Given the description of an element on the screen output the (x, y) to click on. 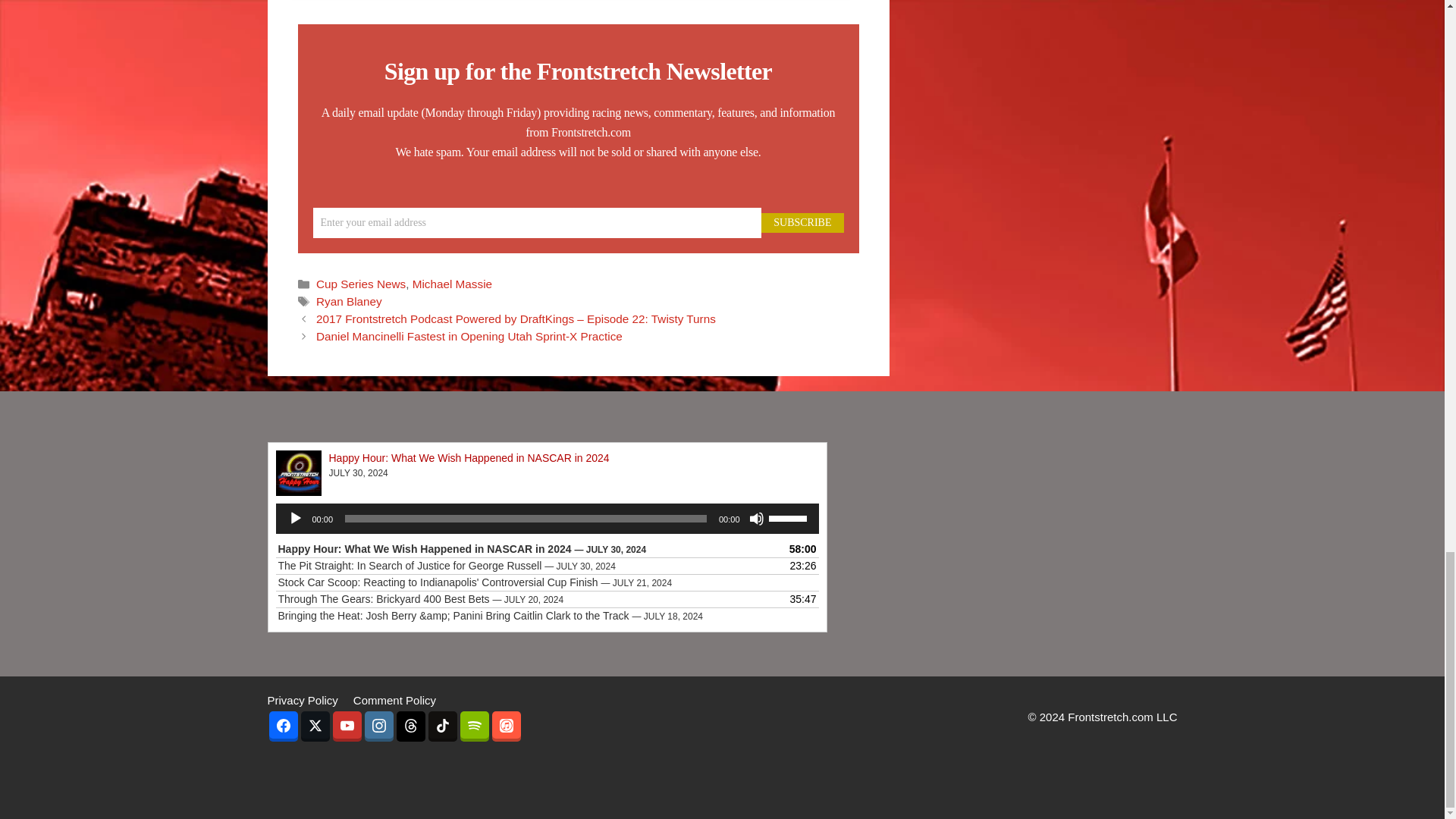
Cup Series News (360, 283)
Mute (756, 518)
Play (295, 518)
SUBSCRIBE (802, 222)
Michael Massie (452, 283)
